Given the description of an element on the screen output the (x, y) to click on. 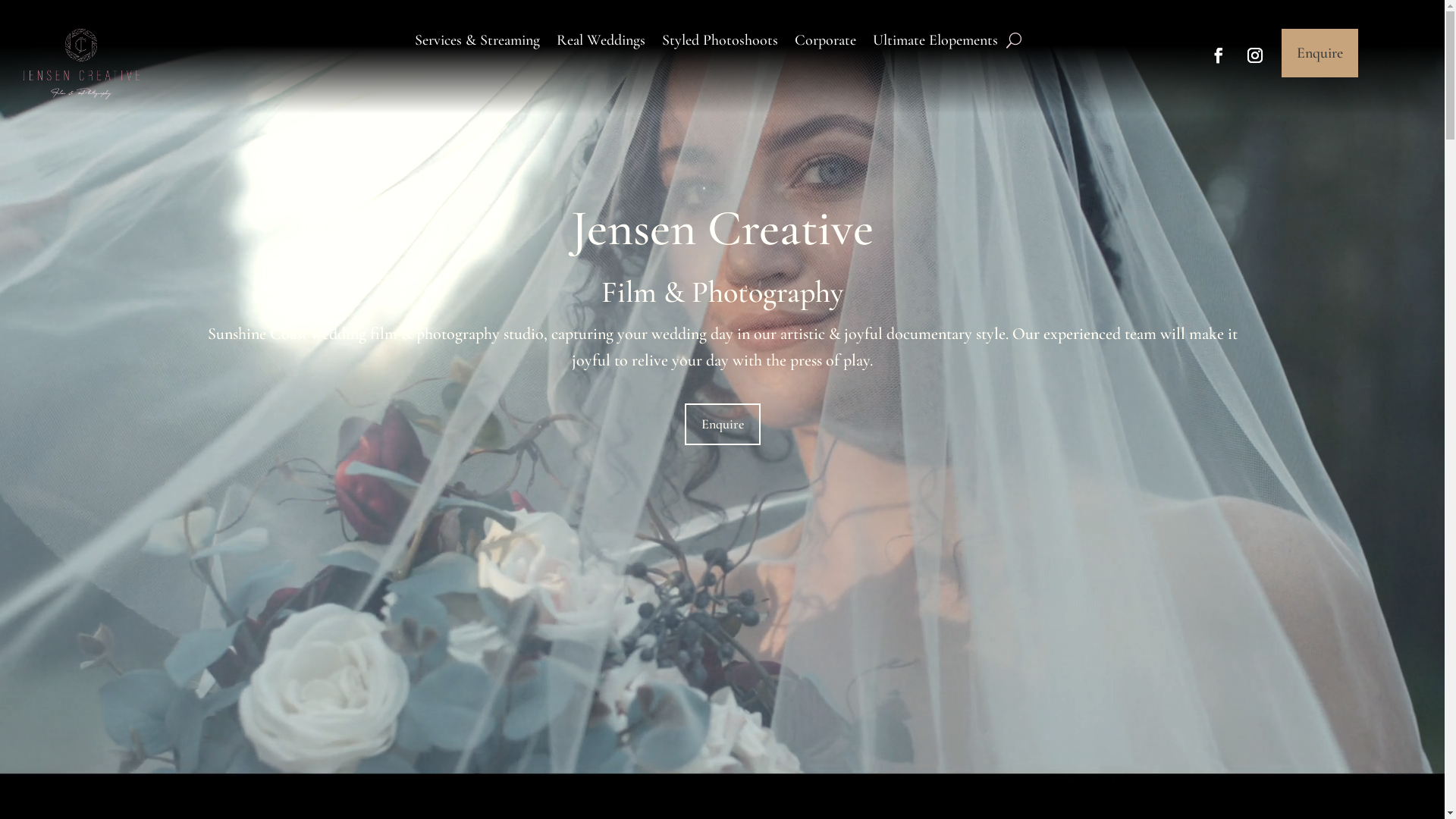
Follow on Instagram Element type: hover (1254, 55)
Corporate Element type: text (825, 42)
Styled Photoshoots Element type: text (720, 42)
Follow on Facebook Element type: hover (1218, 55)
Enquire Element type: text (721, 424)
Services & Streaming Element type: text (476, 42)
Ultimate Elopements Element type: text (934, 42)
Real Weddings Element type: text (600, 42)
